Given the description of an element on the screen output the (x, y) to click on. 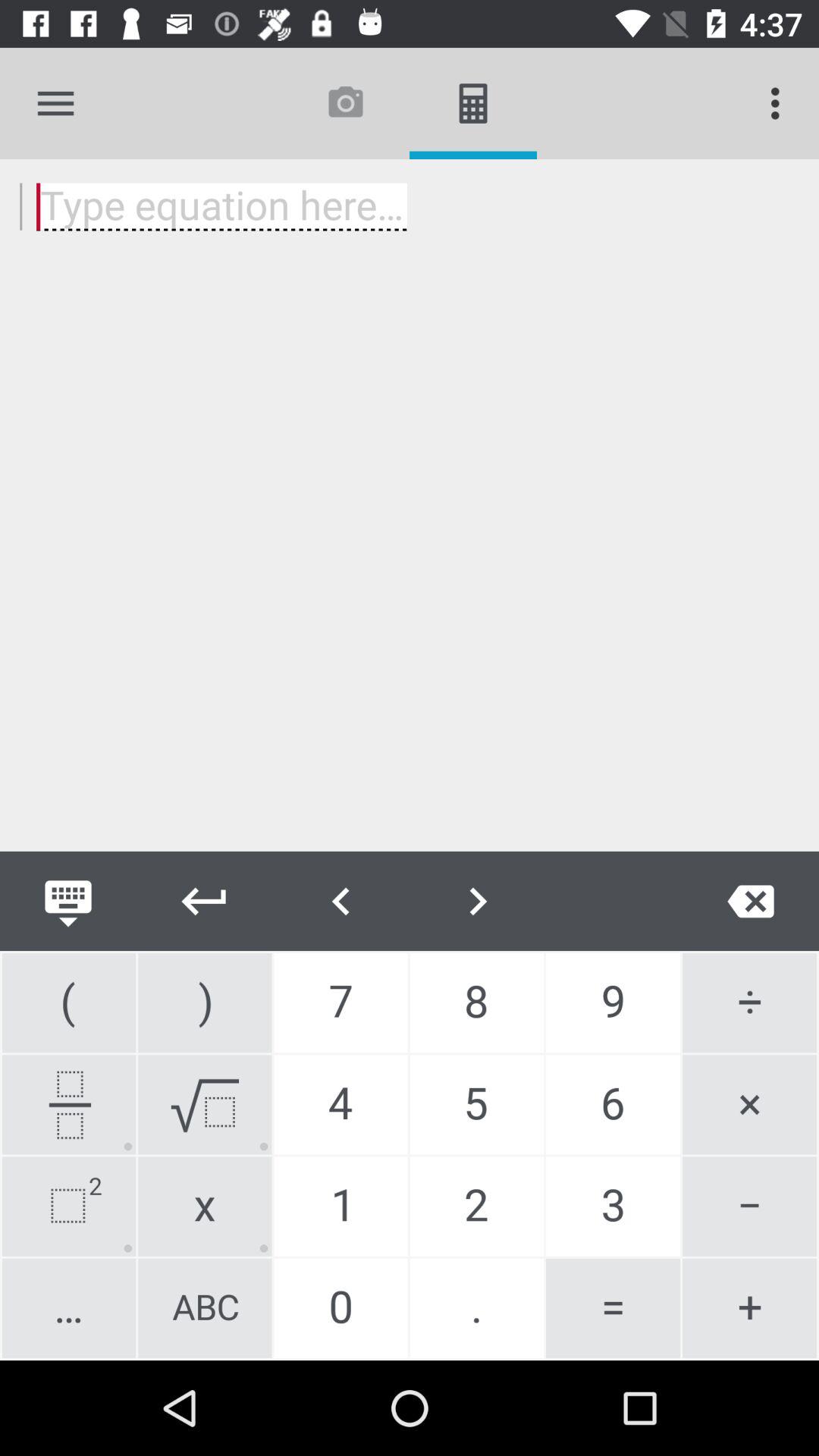
open keyboard (68, 900)
